Given the description of an element on the screen output the (x, y) to click on. 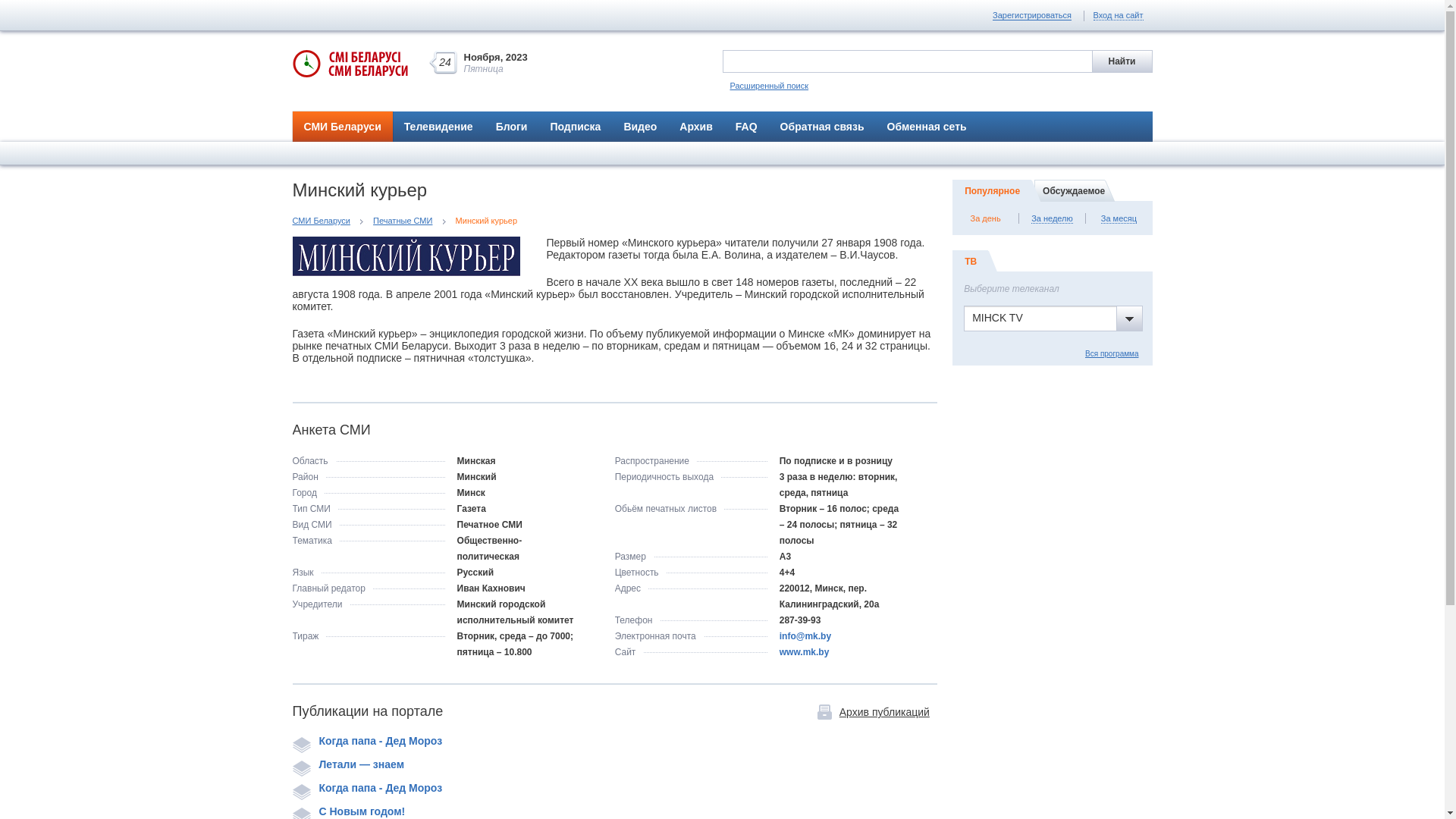
info@mk.by Element type: text (805, 635)
www.mk.by Element type: text (804, 651)
FAQ Element type: text (746, 126)
